Given the description of an element on the screen output the (x, y) to click on. 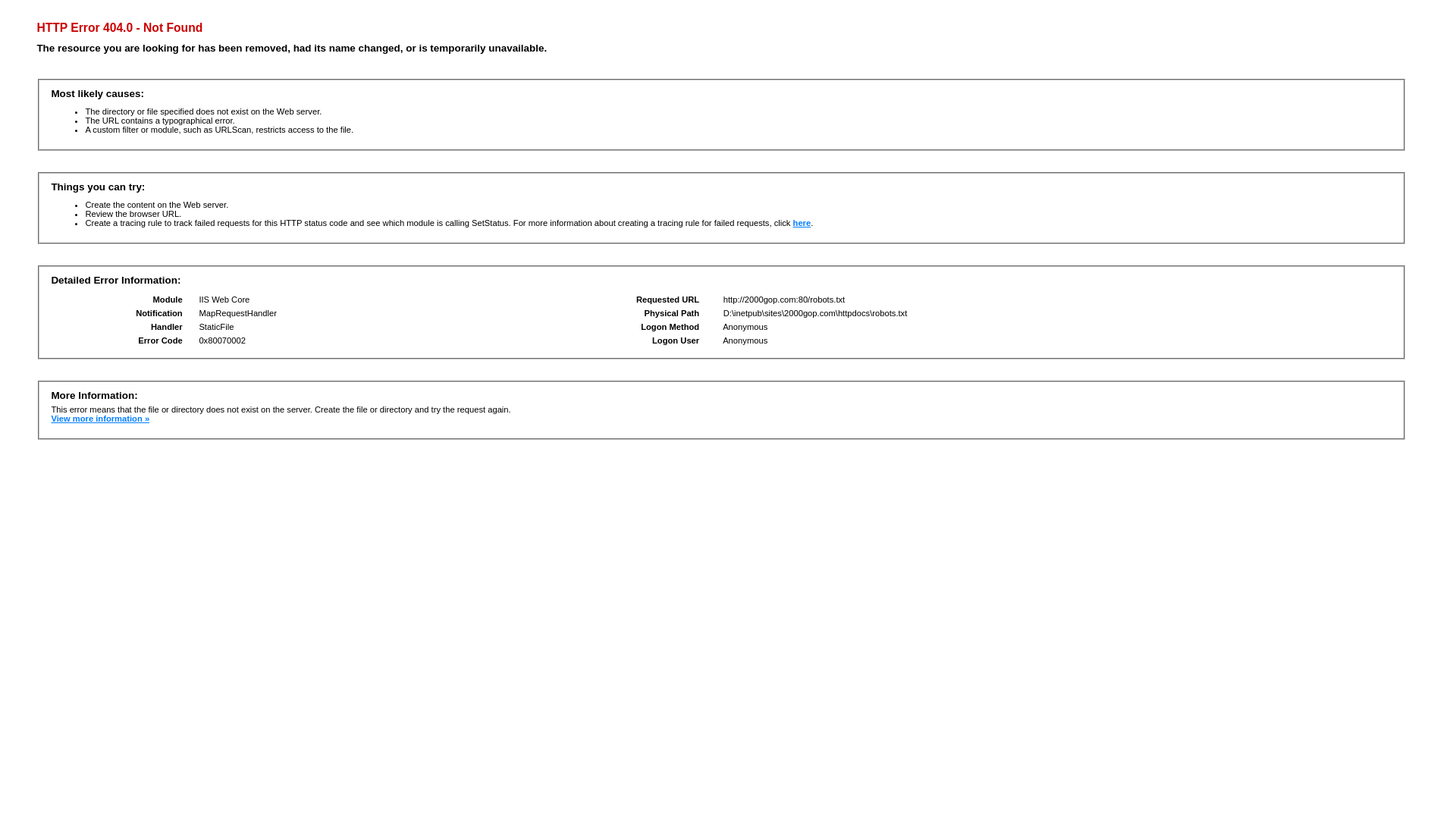
here Element type: text (802, 222)
